Given the description of an element on the screen output the (x, y) to click on. 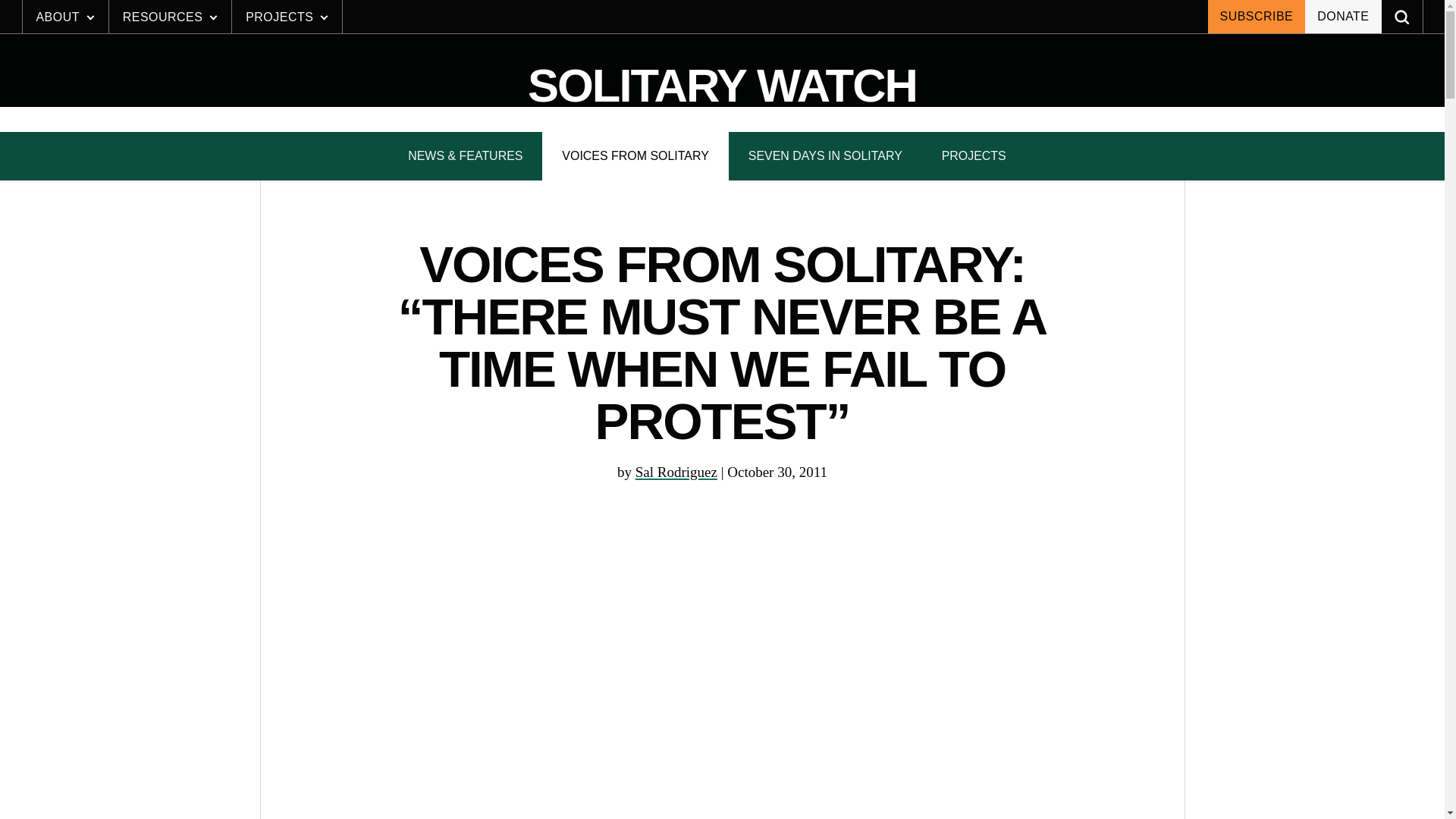
SOLITARY WATCH (721, 86)
SUBSCRIBE (1255, 16)
SEVEN DAYS IN SOLITARY (825, 155)
PROJECTS (973, 155)
Posts by Sal Rodriguez (675, 471)
RESOURCES (170, 17)
ABOUT (65, 17)
PROJECTS (286, 17)
VOICES FROM SOLITARY (634, 155)
